Given the description of an element on the screen output the (x, y) to click on. 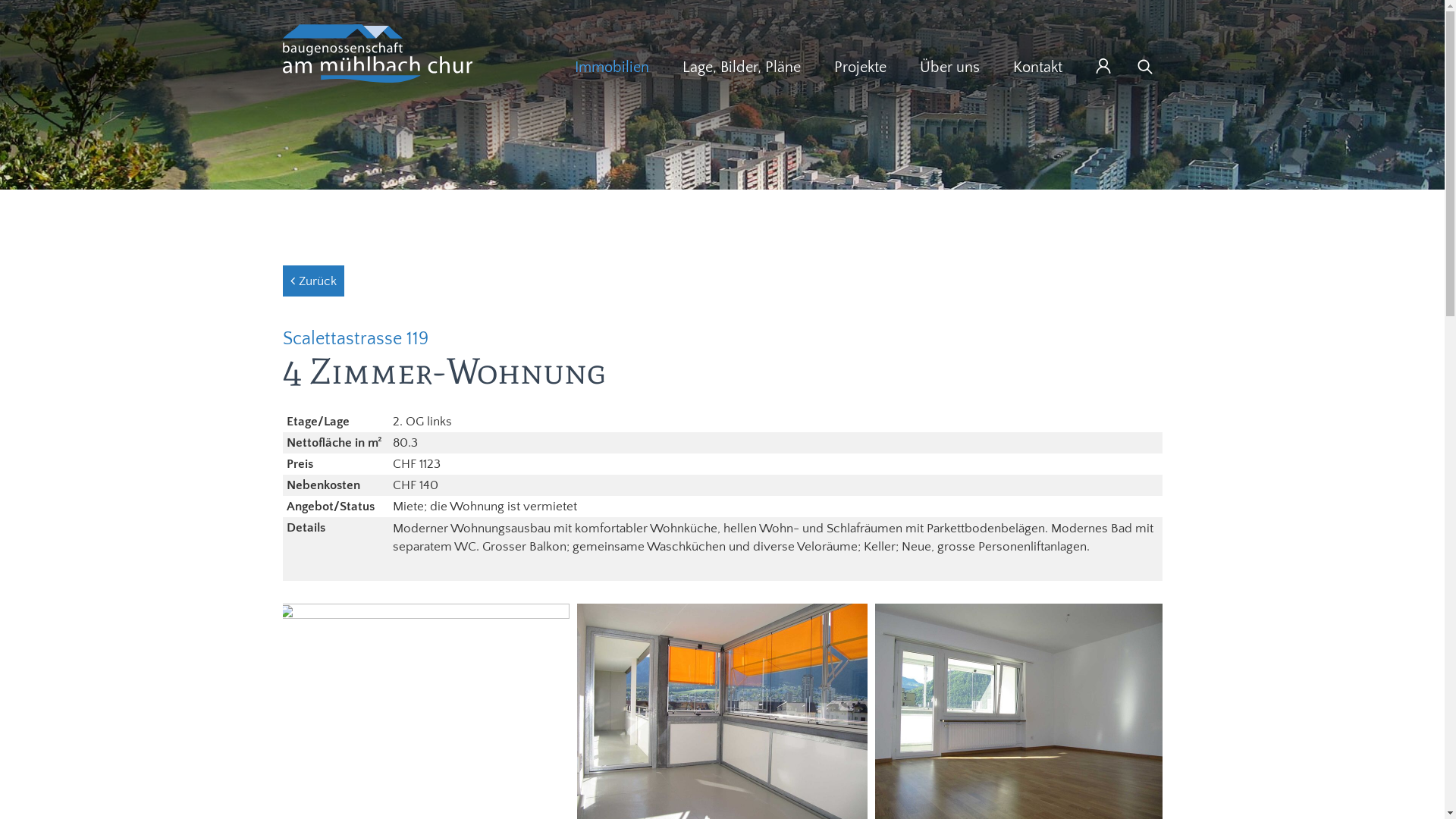
Kontakt Element type: text (1037, 67)
Immobilien Element type: text (611, 67)
Projekte Element type: text (860, 67)
